Given the description of an element on the screen output the (x, y) to click on. 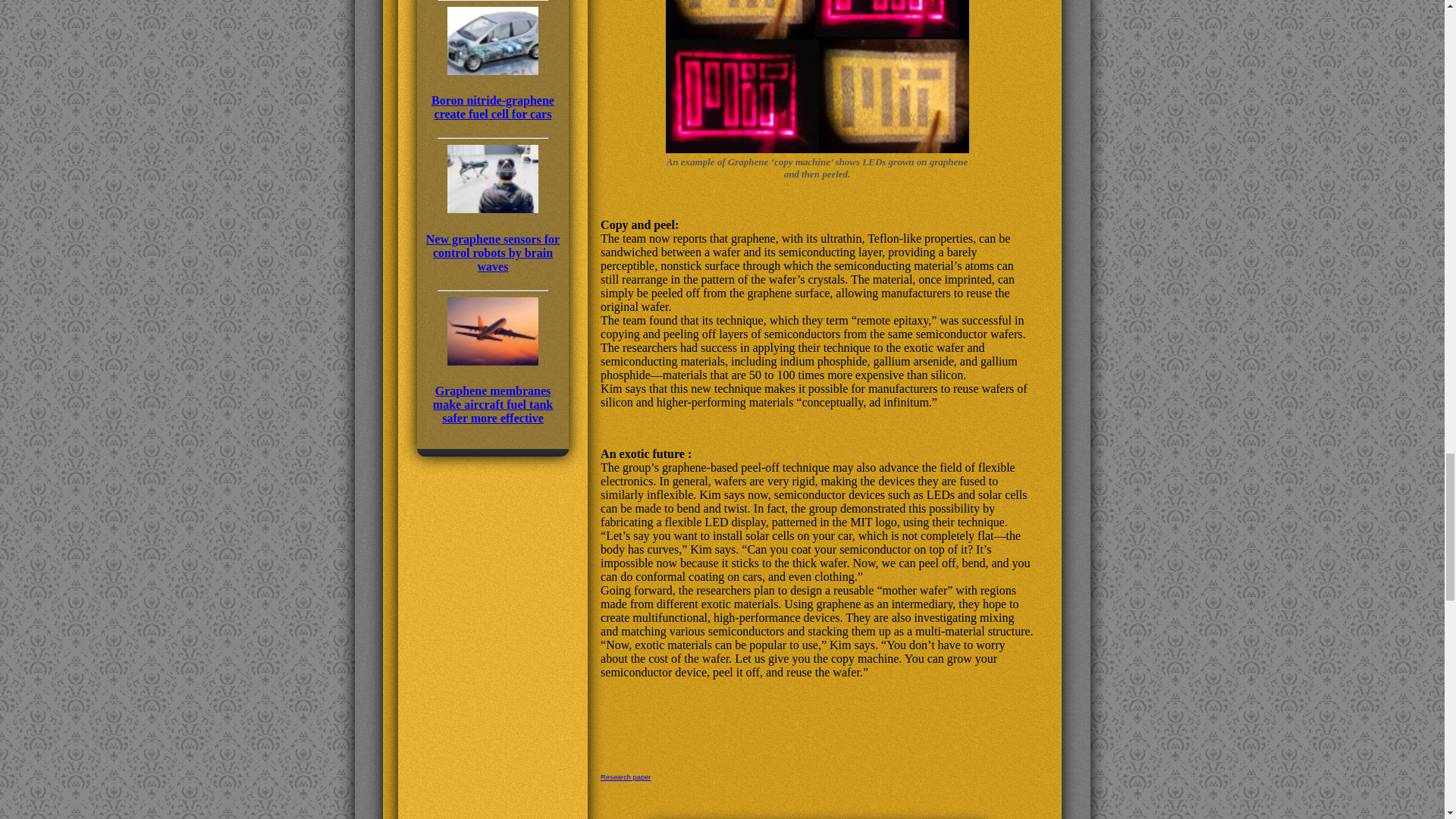
New graphene sensors for control robots by brain waves (492, 237)
Boron nitride-graphene create fuel cell for cars (492, 92)
Research paper (624, 777)
